Given the description of an element on the screen output the (x, y) to click on. 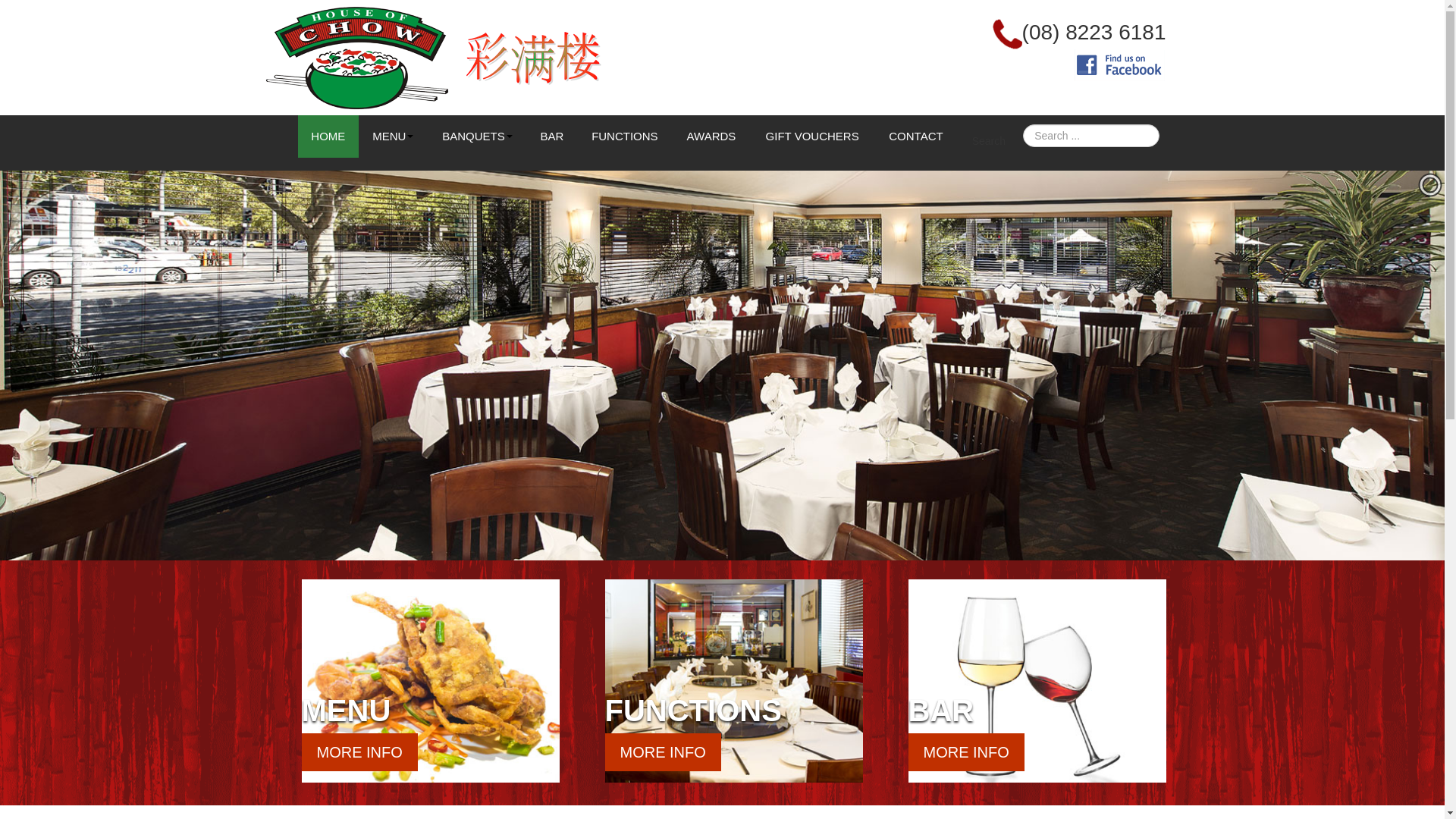
FUNCTIONS Element type: text (624, 136)
MENU Element type: text (392, 136)
BANQUETS Element type: text (477, 136)
AWARDS Element type: text (710, 136)
GIFT VOUCHERS Element type: text (812, 136)
BAR Element type: text (551, 136)
CONTACT Element type: text (915, 136)
MORE INFO Element type: text (663, 752)
MORE INFO Element type: text (359, 752)
HOME Element type: text (327, 136)
MORE INFO Element type: text (966, 752)
